Given the description of an element on the screen output the (x, y) to click on. 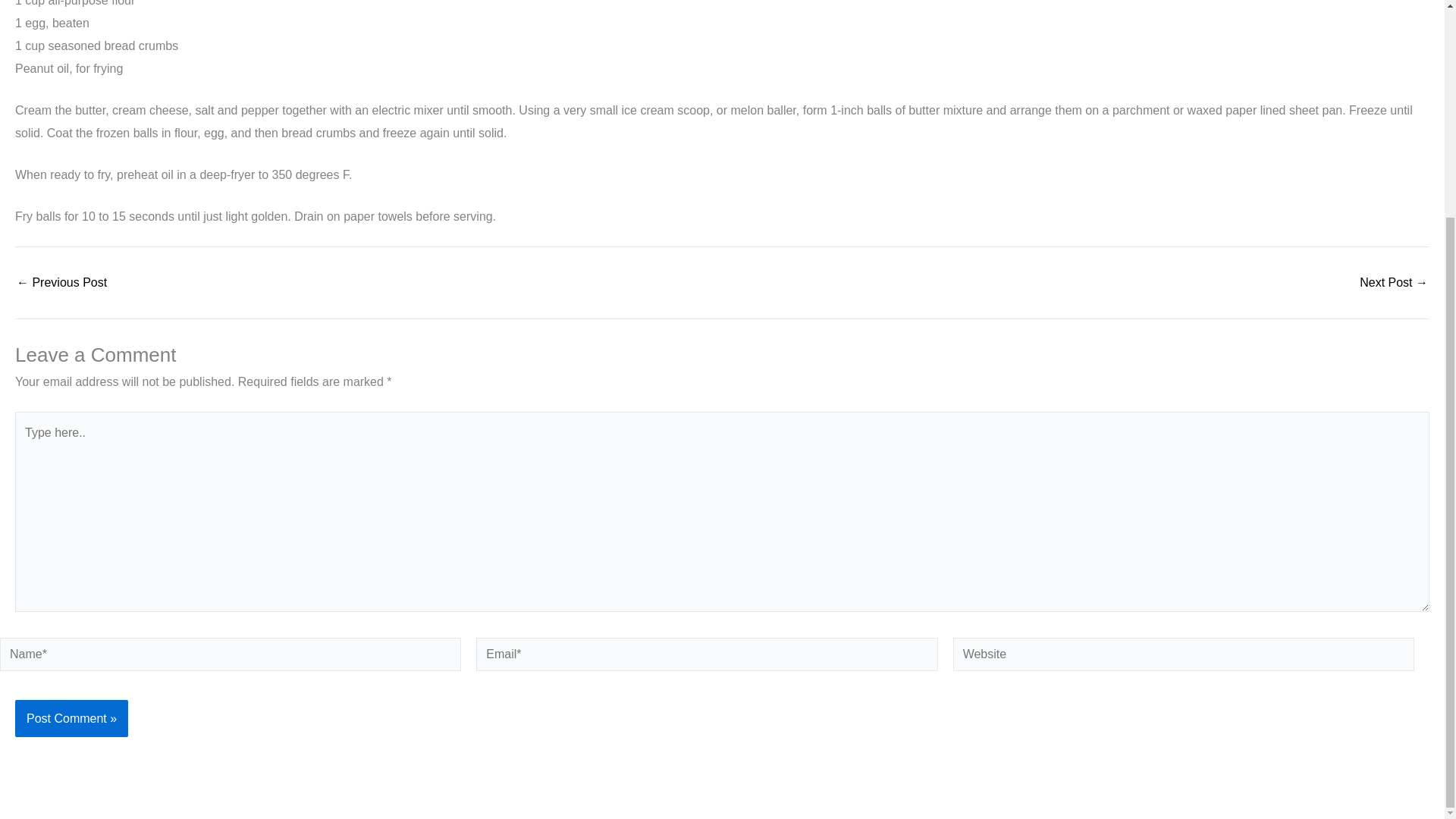
Mathematics In Movies (1393, 282)
